Given the description of an element on the screen output the (x, y) to click on. 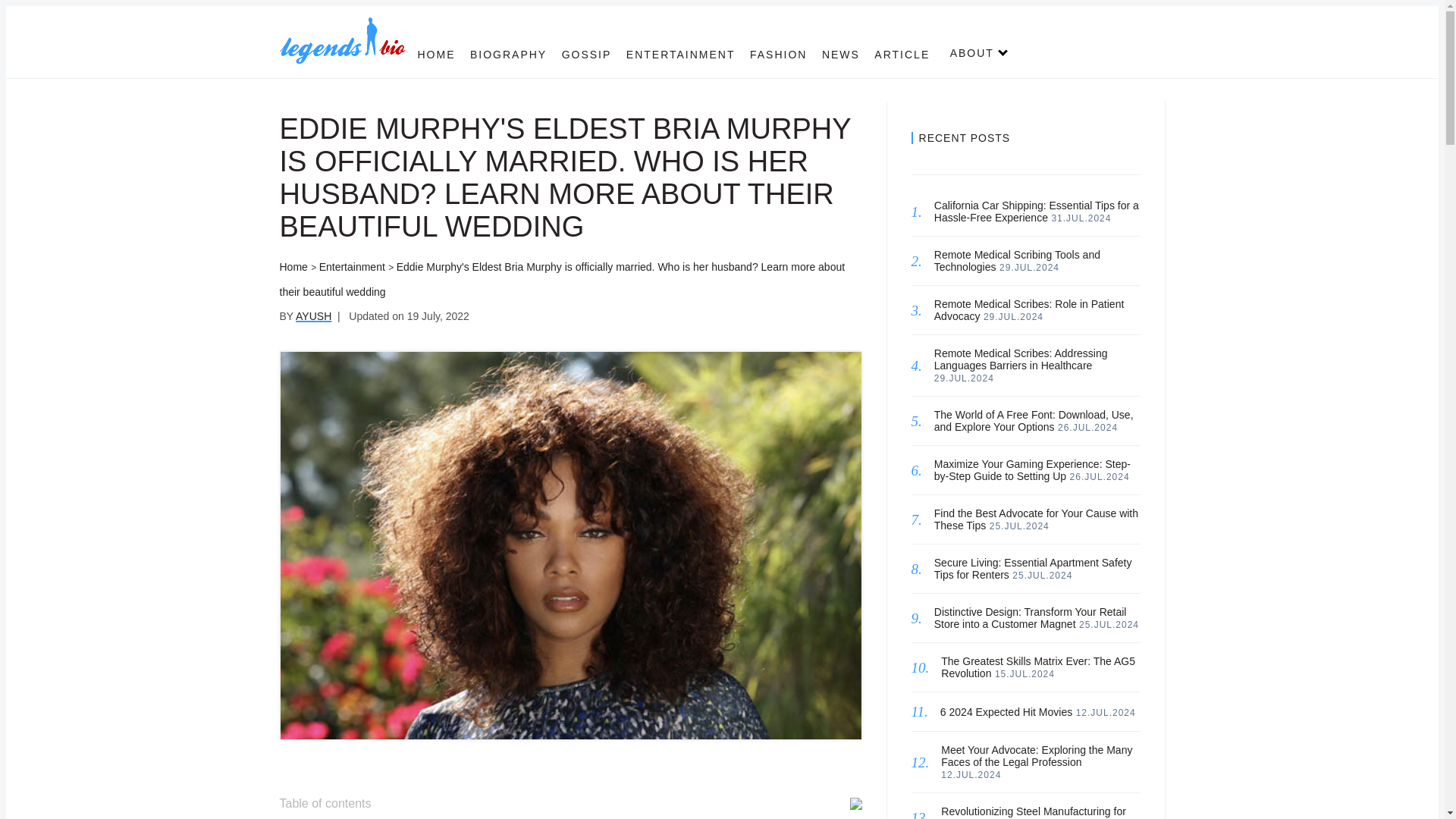
26 July 2024 (1099, 476)
29 July 2024 (1013, 317)
29 July 2024 (1028, 267)
Home (293, 266)
31 July 2024 (1080, 217)
Entertainment (351, 266)
ABOUT (972, 52)
FASHION (777, 54)
29 July 2024 (964, 378)
Table of contents (570, 803)
BIOGRAPHY (508, 54)
25 July 2024 (1041, 575)
ENTERTAINMENT (680, 54)
25 July 2024 (1108, 624)
NEWS (841, 54)
